Given the description of an element on the screen output the (x, y) to click on. 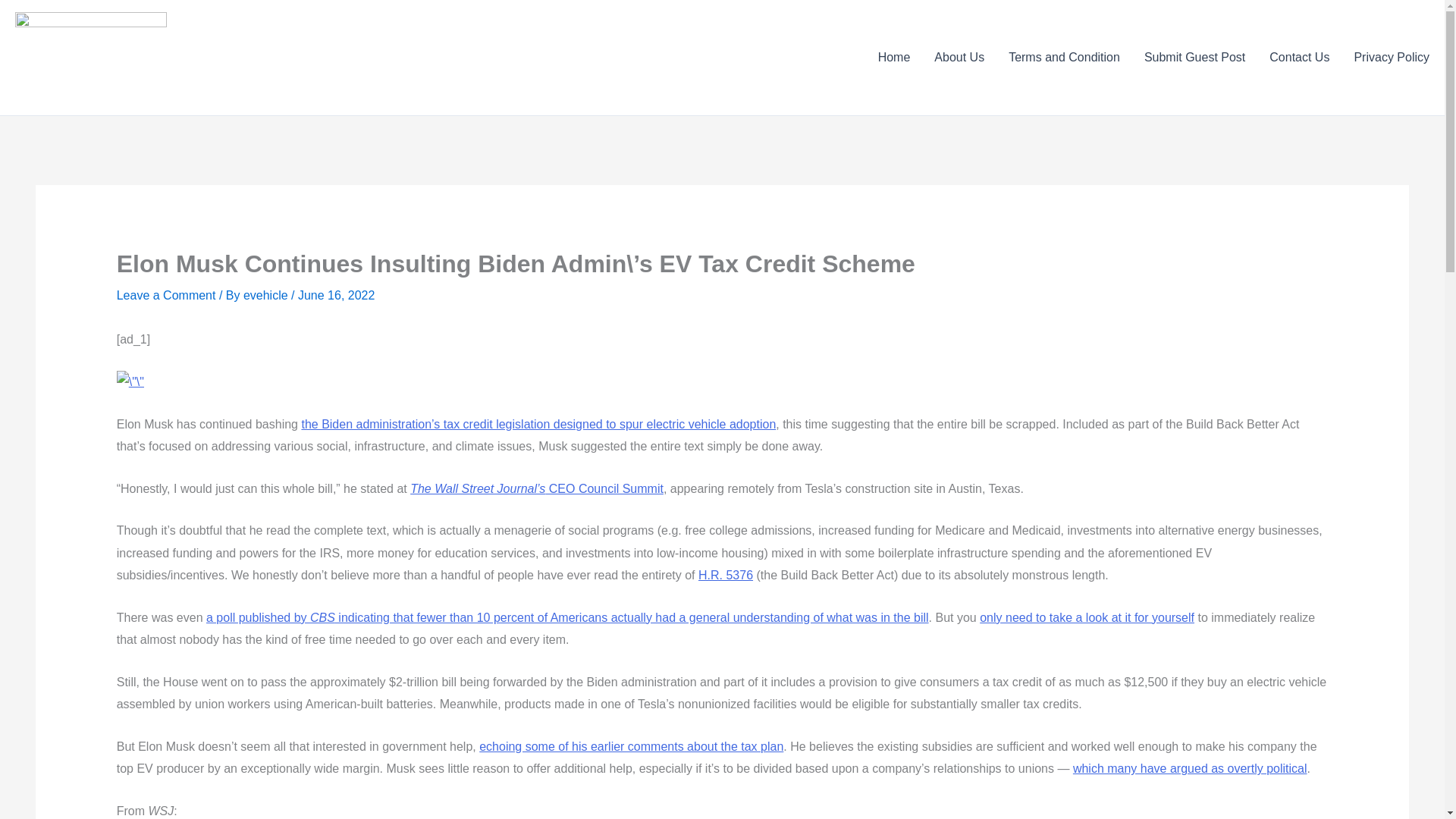
View all posts by evehicle (267, 295)
H.R. 5376 (725, 574)
Home (894, 57)
Submit Guest Post (1194, 57)
Leave a Comment (165, 295)
About Us (958, 57)
echoing some of his earlier comments about the tax plan (631, 746)
Privacy Policy (1384, 57)
only need to take a look at it for yourself (1086, 617)
evehicle (267, 295)
which many have argued as overtly political (1190, 768)
Terms and Condition (1063, 57)
Contact Us (1298, 57)
